Given the description of an element on the screen output the (x, y) to click on. 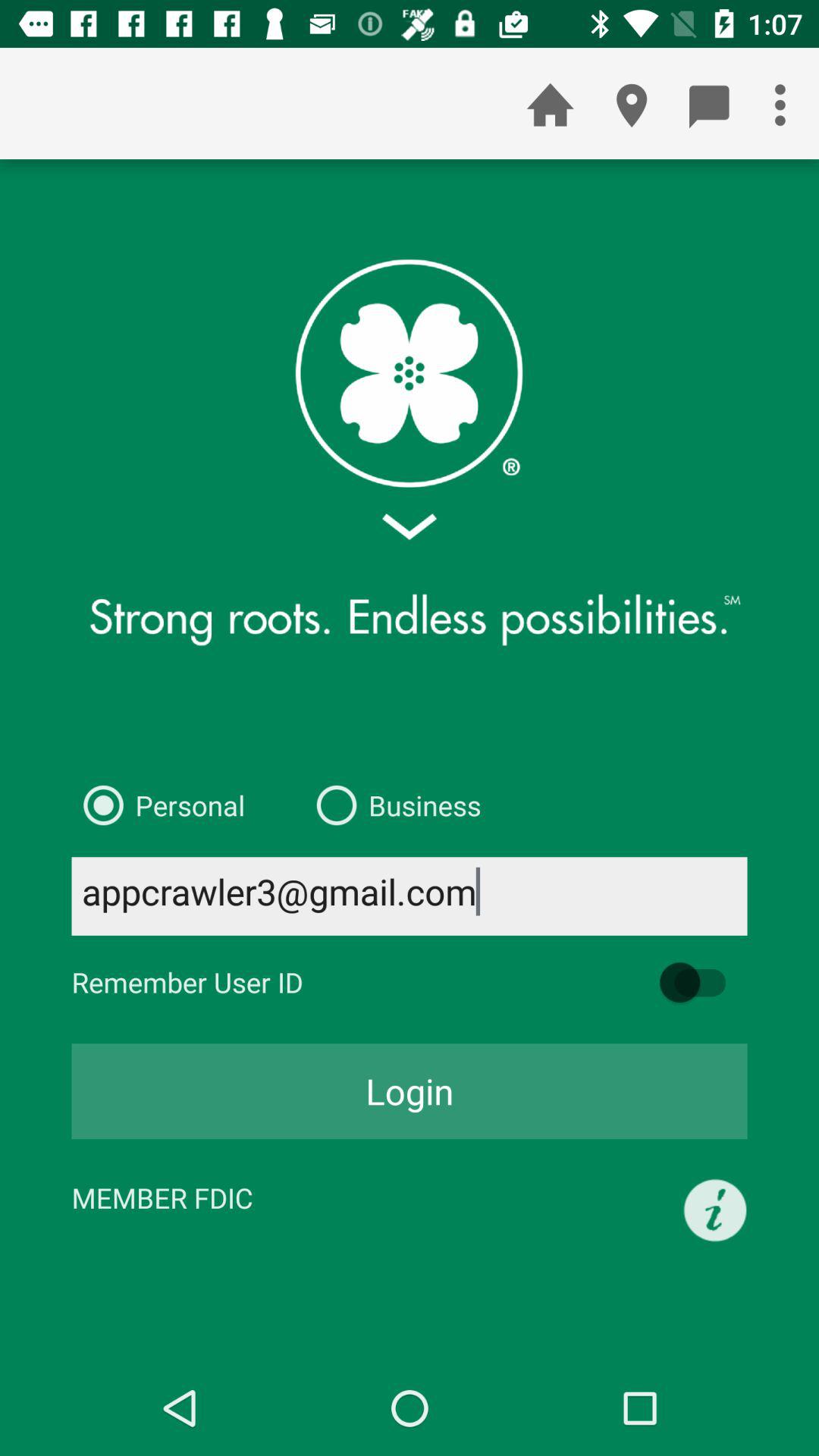
click the personal item (158, 805)
